Given the description of an element on the screen output the (x, y) to click on. 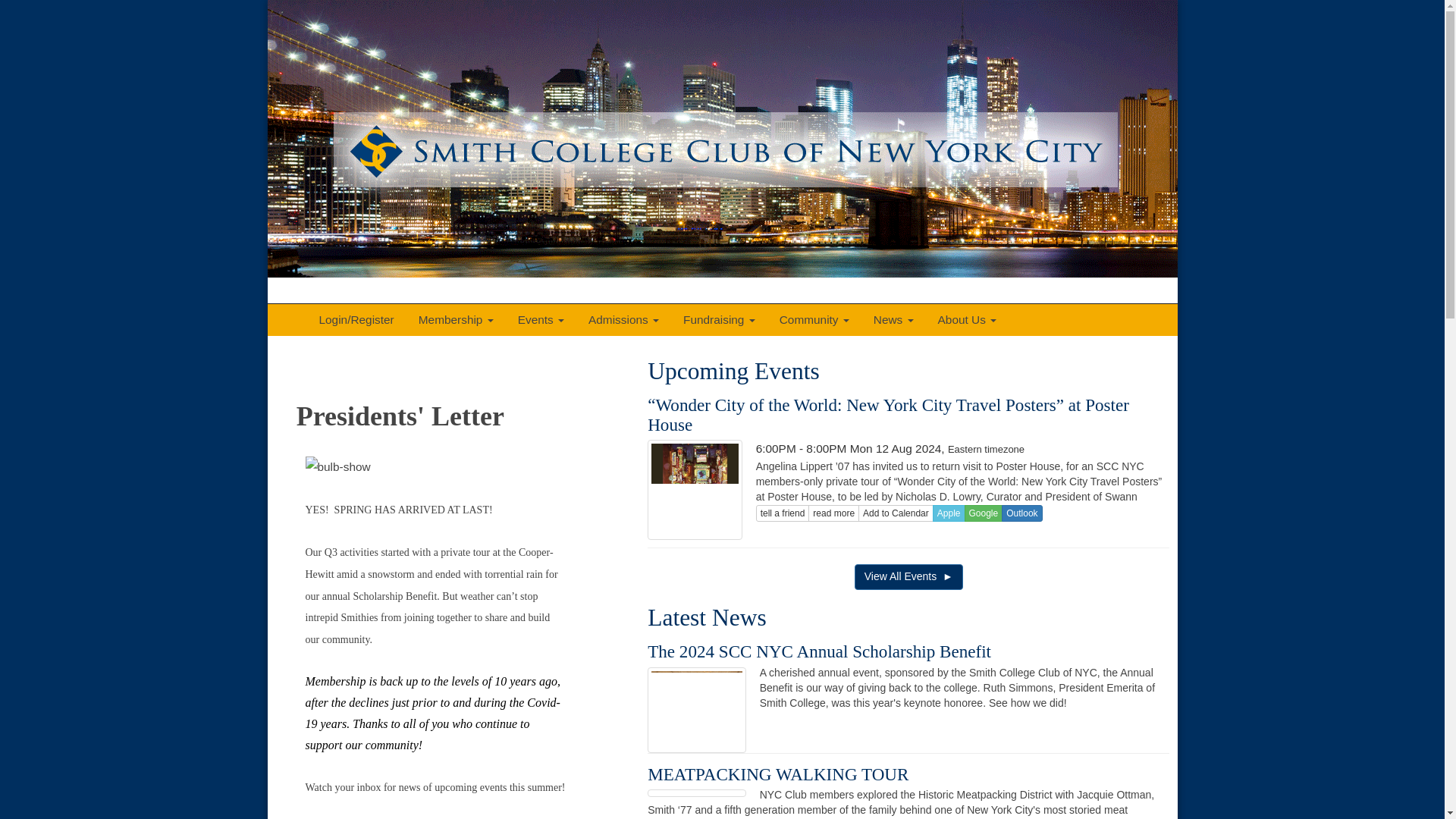
News (893, 320)
Events (541, 320)
Admissions (623, 320)
Google (983, 513)
Fundraising (718, 320)
Add to Calendar (896, 513)
Community (814, 320)
Membership (455, 320)
read more (833, 513)
tell a friend (782, 513)
Apple (949, 513)
About Us (967, 320)
